Given the description of an element on the screen output the (x, y) to click on. 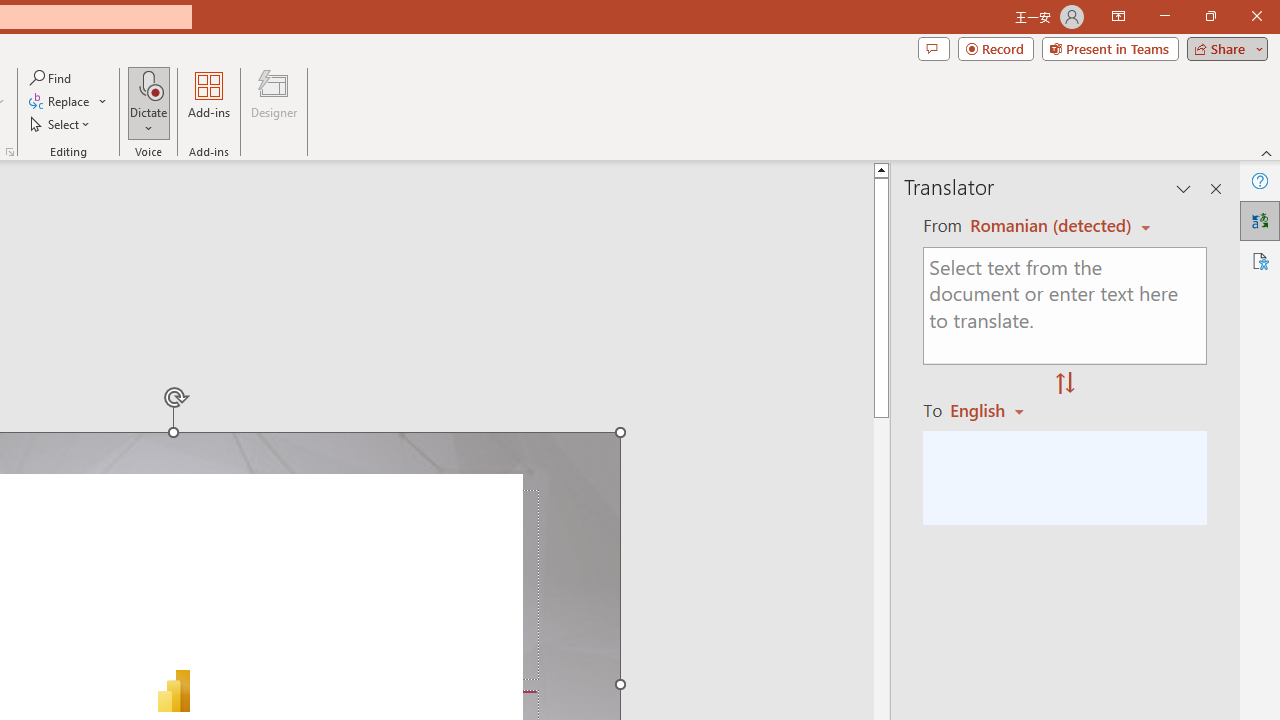
Romanian (994, 409)
TextBox 7 (163, 663)
